Given the description of an element on the screen output the (x, y) to click on. 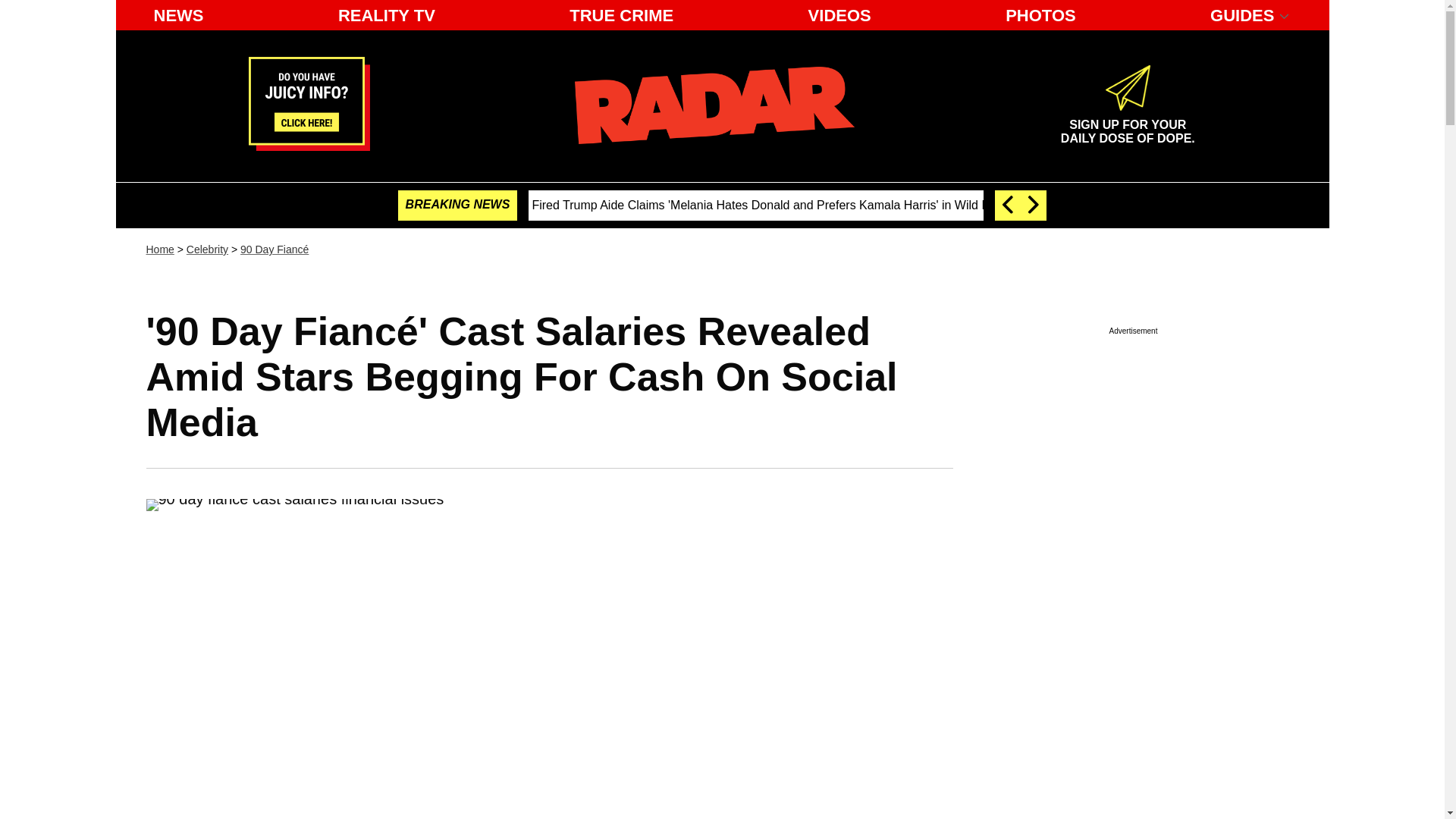
NEWS (178, 15)
VIDEOS (839, 15)
Sign up for your daily dose of dope. (1127, 124)
Home (159, 249)
REALITY TV (386, 15)
Celebrity (207, 249)
Radar Online (1127, 124)
TRUE CRIME (714, 105)
